Given the description of an element on the screen output the (x, y) to click on. 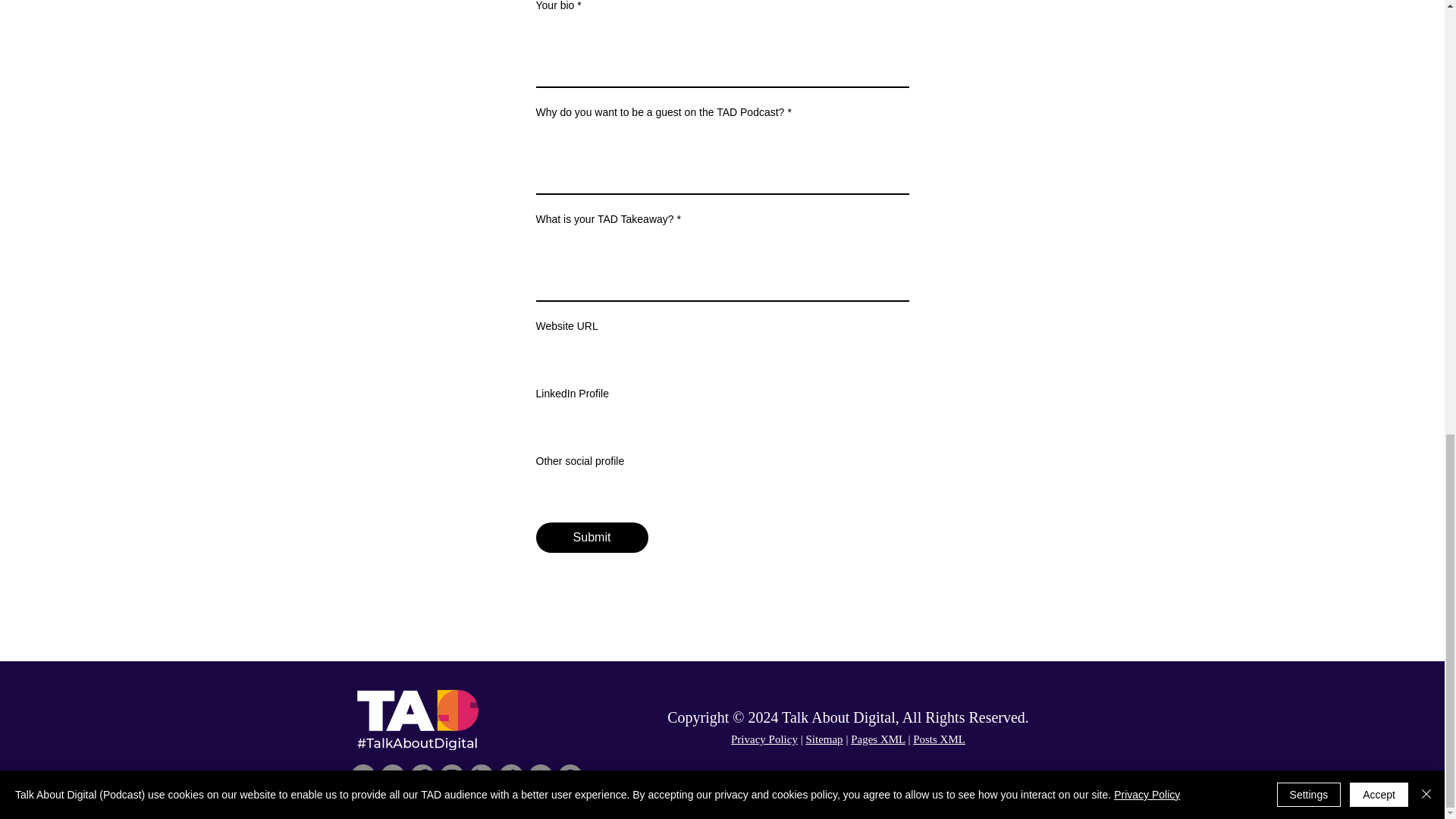
Privacy Policy (763, 739)
Pages XML (877, 739)
Posts XML (938, 739)
Submit (591, 537)
Sitemap (824, 739)
